Given the description of an element on the screen output the (x, y) to click on. 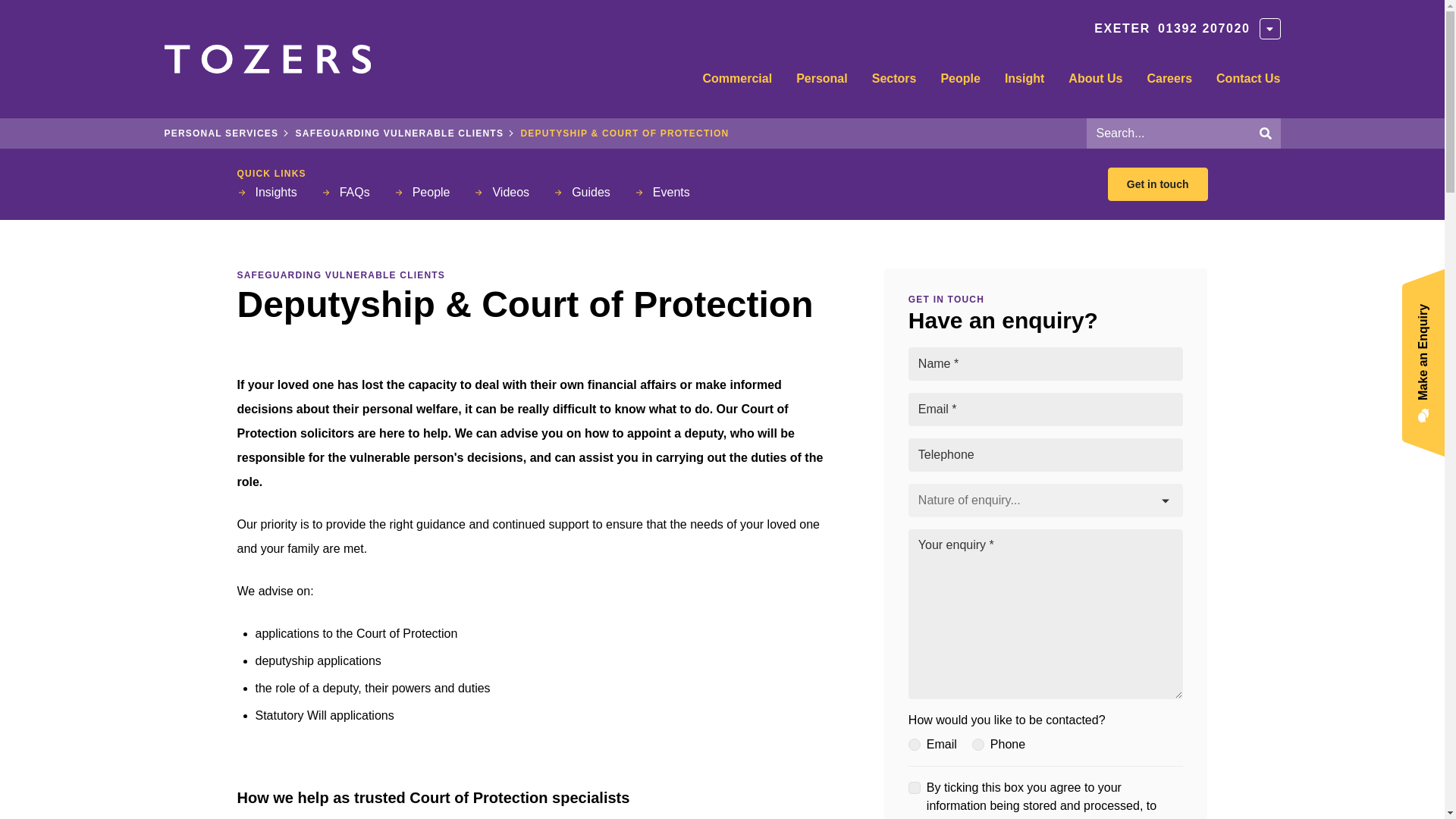
EXETER 01392 207020 (1171, 28)
Telephone (978, 744)
Sectors (894, 84)
Commercial (737, 84)
Personal (822, 84)
Email (914, 744)
on (914, 787)
